Given the description of an element on the screen output the (x, y) to click on. 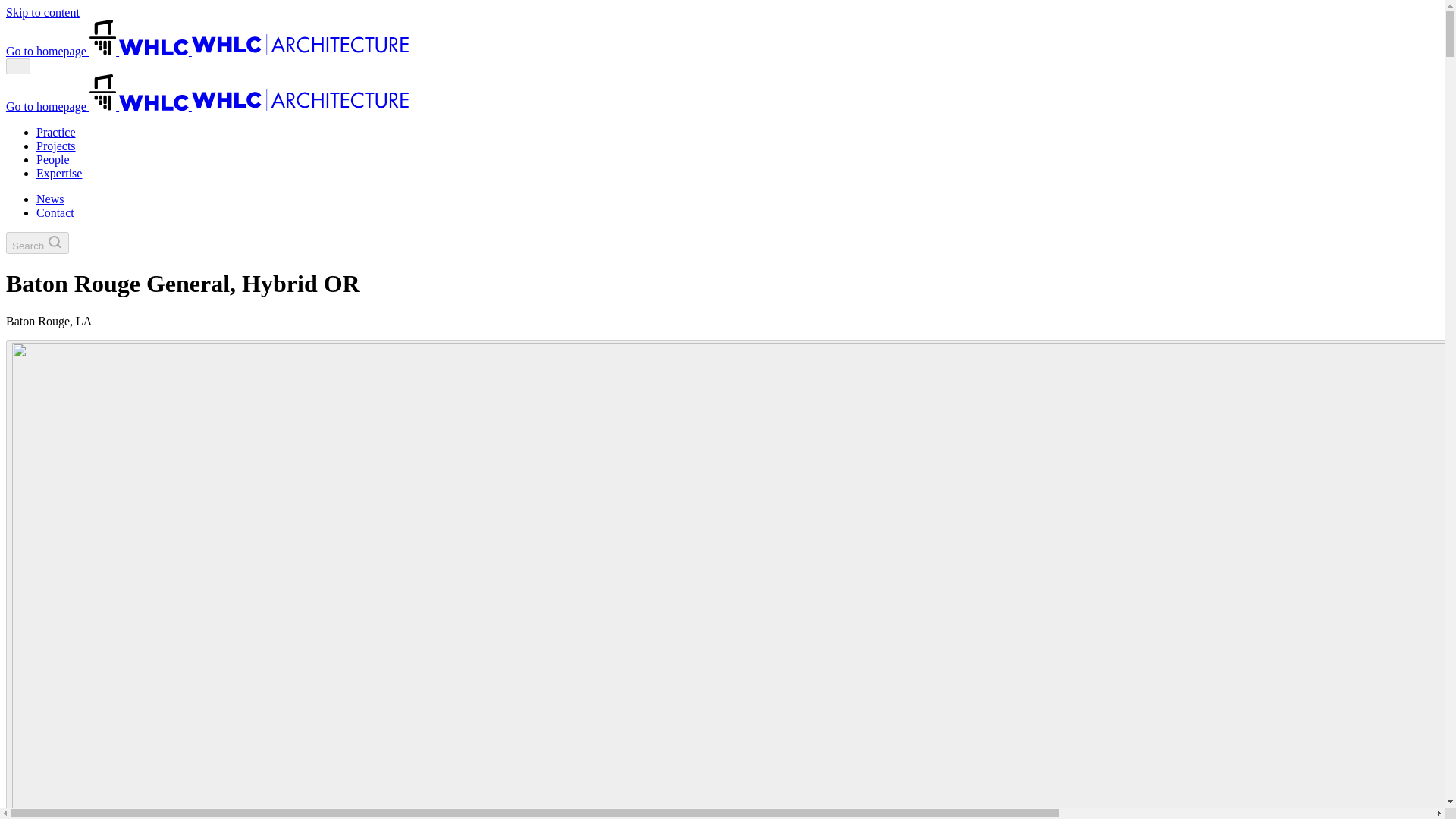
Contact (1309, 40)
Go to homepage (153, 38)
News (1244, 40)
Expertise (827, 40)
Projects (686, 40)
Practice (613, 40)
People (754, 40)
